Given the description of an element on the screen output the (x, y) to click on. 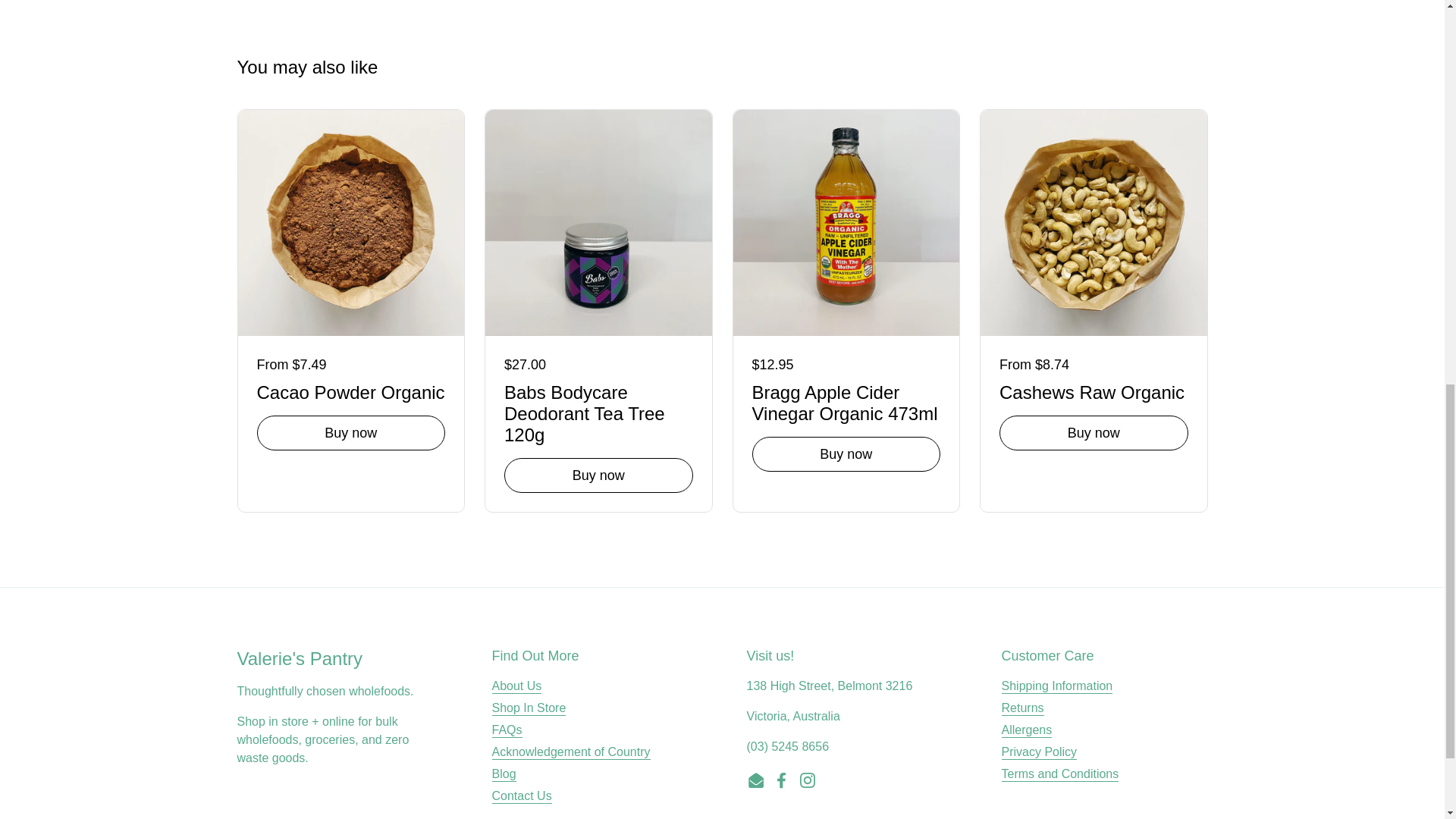
Babs Bodycare Deodorant Tea Tree 120g (598, 411)
Bragg Apple Cider Vinegar Organic 473ml (846, 400)
Cashews Raw Organic (1093, 390)
Cacao Powder Organic (350, 390)
